Given the description of an element on the screen output the (x, y) to click on. 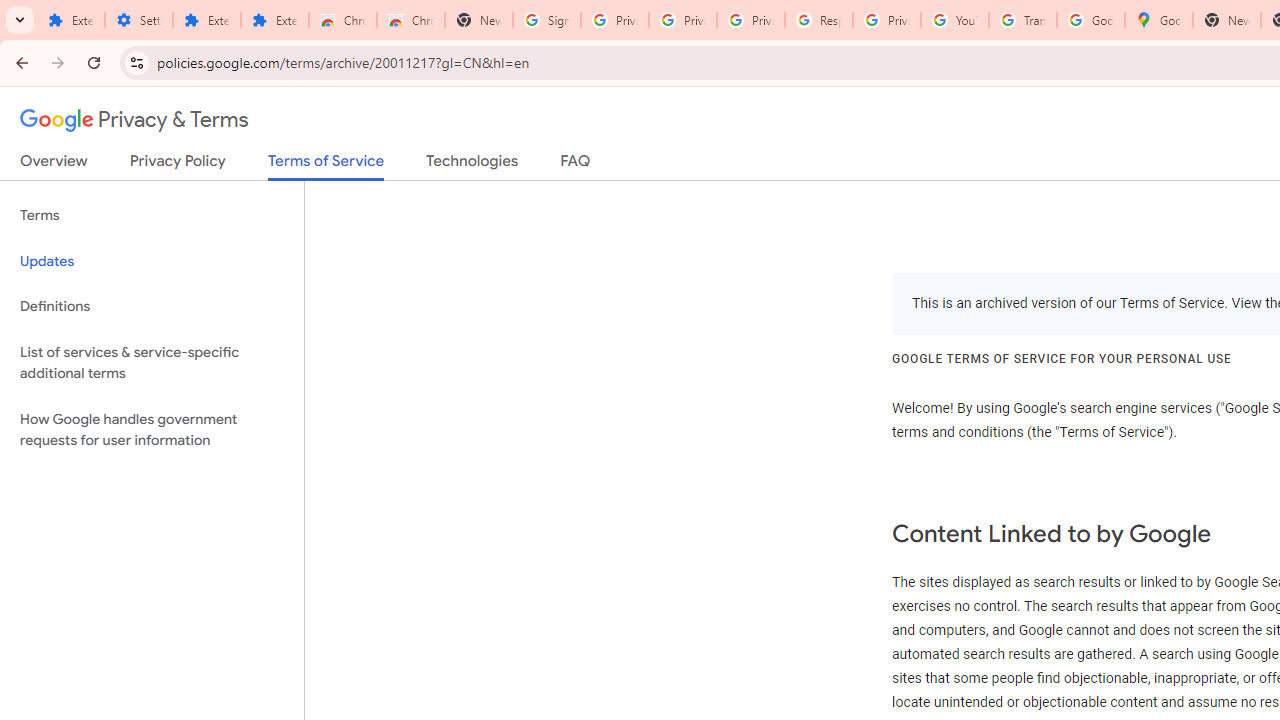
Extensions (274, 20)
Extensions (70, 20)
Chrome Web Store - Themes (411, 20)
Chrome Web Store (342, 20)
